Given the description of an element on the screen output the (x, y) to click on. 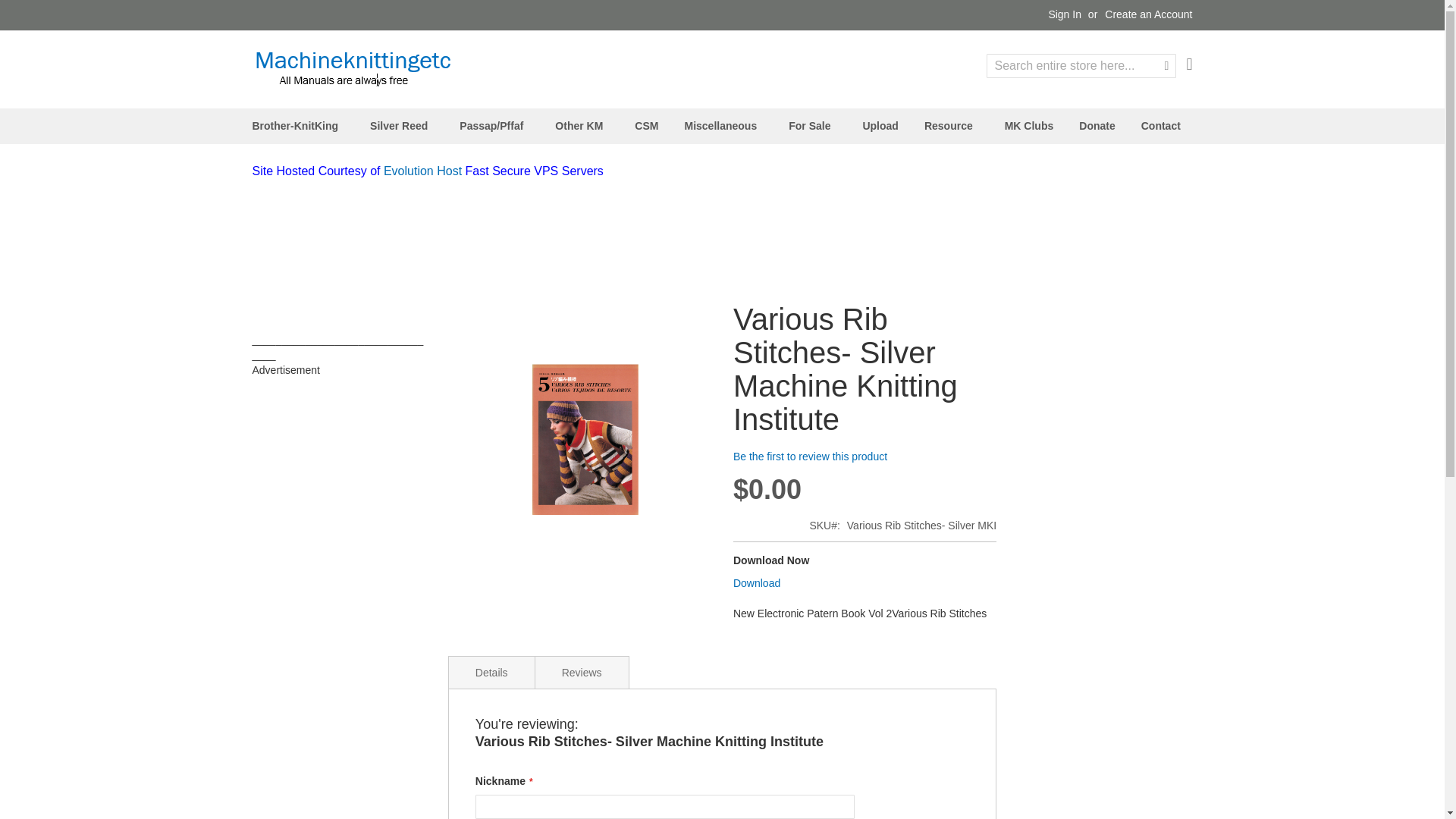
Advertisement (619, 222)
Evolution Host (422, 170)
Brother-KnitKing (298, 126)
Silver Reed (401, 126)
Sign In (1064, 14)
Create an Account (1148, 14)
